Given the description of an element on the screen output the (x, y) to click on. 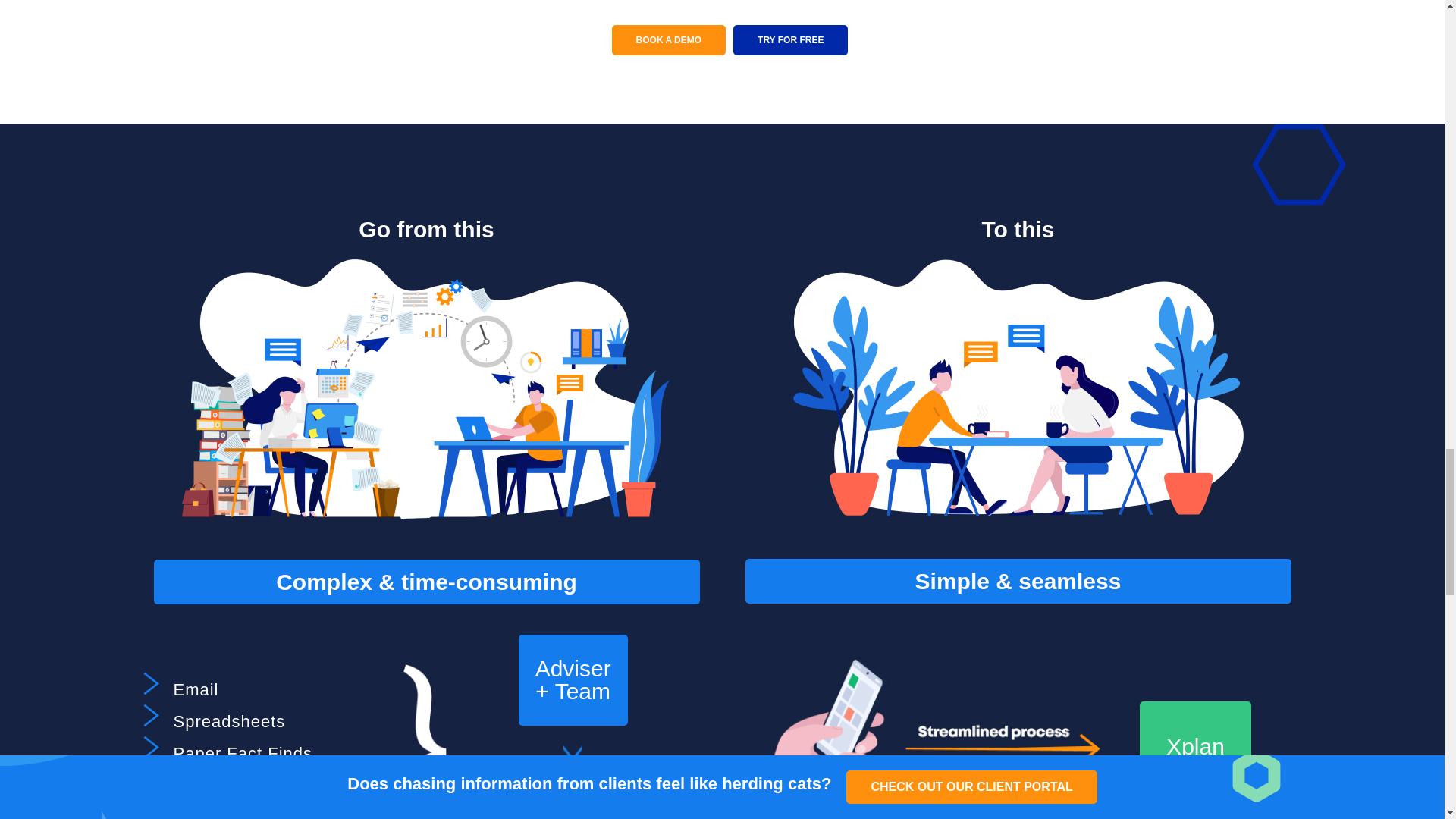
Xplan (572, 798)
BOOK A DEMO (668, 40)
TRY FOR FREE (790, 40)
Xplan (1195, 746)
